Given the description of an element on the screen output the (x, y) to click on. 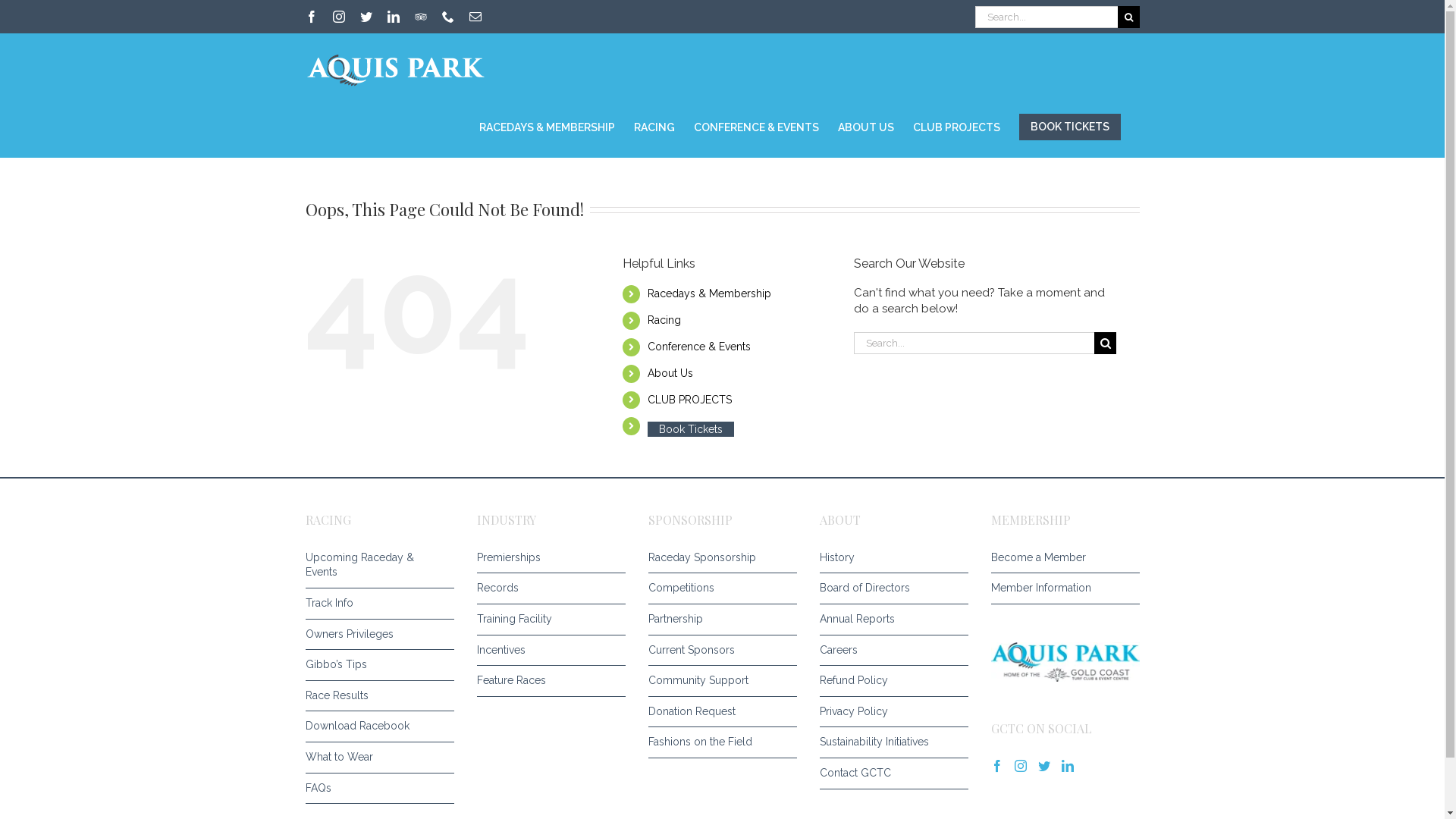
About Us Element type: text (670, 373)
CONFERENCE & EVENTS Element type: text (755, 125)
Raceday Sponsorship Element type: text (717, 557)
Premierships Element type: text (546, 557)
Phone Element type: text (447, 16)
Trip Advisor Element type: text (420, 16)
ABOUT US Element type: text (865, 125)
Community Support Element type: text (717, 680)
FAQs Element type: text (374, 788)
Track Info Element type: text (374, 603)
Race Results Element type: text (374, 695)
Careers Element type: text (889, 650)
LinkedIn Element type: text (392, 16)
Member Information Element type: text (1060, 588)
BOOK TICKETS Element type: text (1069, 126)
Download Racebook Element type: text (374, 726)
Competitions Element type: text (717, 588)
Donation Request Element type: text (717, 711)
Contact GCTC Element type: text (889, 773)
Feature Races Element type: text (546, 680)
Owners Privileges Element type: text (374, 634)
Sustainability Initiatives Element type: text (889, 741)
Racing Element type: text (663, 319)
Racedays & Membership Element type: text (709, 293)
Book Tickets Element type: text (690, 428)
Incentives Element type: text (546, 650)
RACEDAYS & MEMBERSHIP Element type: text (547, 125)
Current Sponsors Element type: text (717, 650)
Facebook Element type: text (310, 16)
RACING Element type: text (653, 125)
Email Element type: text (474, 16)
Twitter Element type: text (365, 16)
Upcoming Raceday & Events Element type: text (374, 565)
Board of Directors Element type: text (889, 588)
Partnership Element type: text (717, 619)
Privacy Policy Element type: text (889, 711)
Conference & Events Element type: text (698, 346)
Become a Member Element type: text (1060, 557)
Refund Policy Element type: text (889, 680)
What to Wear Element type: text (374, 757)
History Element type: text (889, 557)
CLUB PROJECTS Element type: text (956, 125)
Records Element type: text (546, 588)
Annual Reports Element type: text (889, 619)
CLUB PROJECTS Element type: text (689, 399)
Training Facility Element type: text (546, 619)
Instagram Element type: text (338, 16)
Fashions on the Field Element type: text (717, 741)
